Given the description of an element on the screen output the (x, y) to click on. 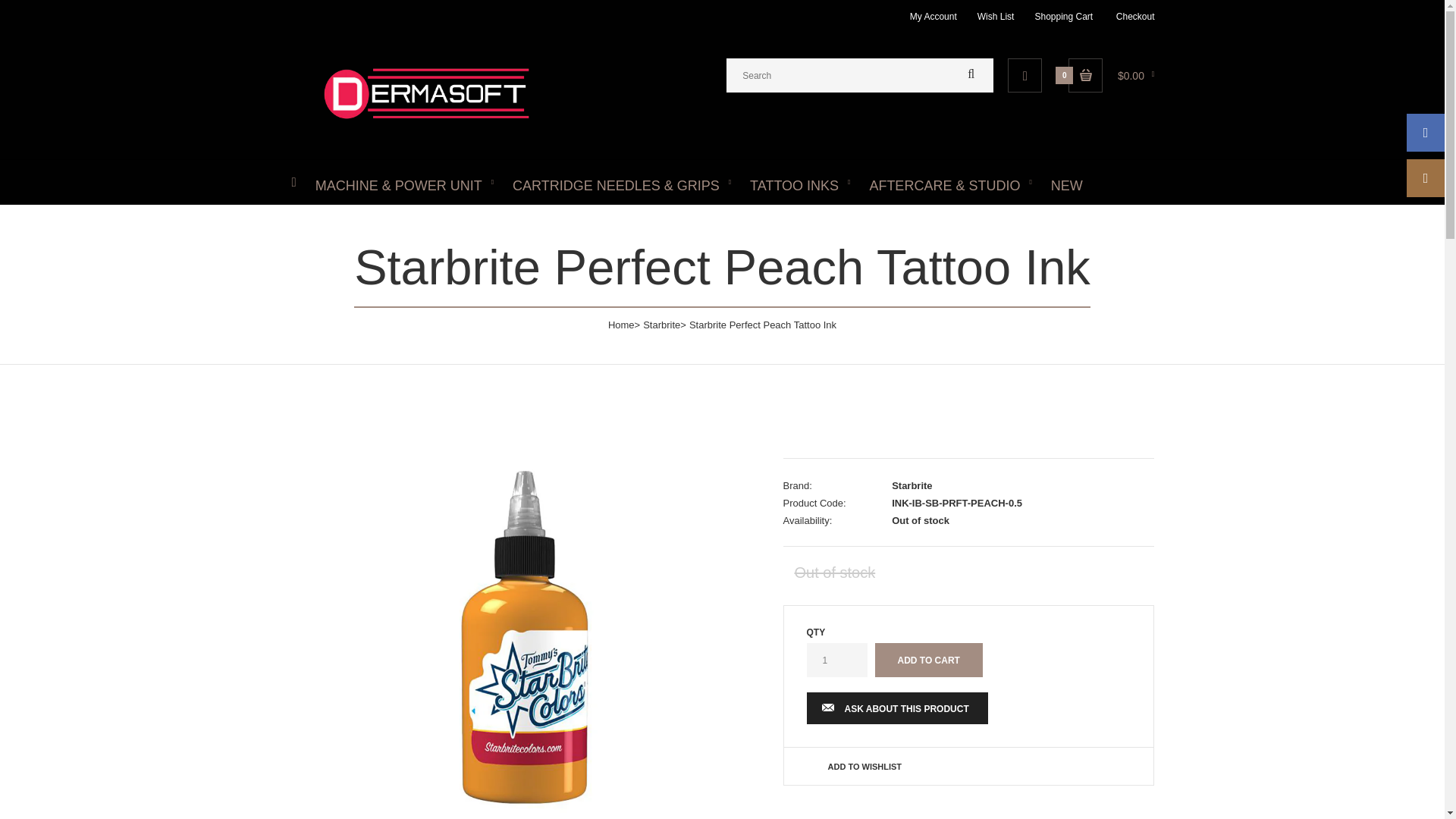
Dermasoft Tattoo (425, 123)
Add to cart (928, 659)
Wish List (995, 16)
Add to wishlist (865, 766)
1 (836, 659)
Starbrite (911, 485)
My Account (933, 16)
Dermasoft Tattoo (425, 93)
Checkout (1135, 16)
Starbrite (661, 324)
Shopping Cart (1063, 16)
